Given the description of an element on the screen output the (x, y) to click on. 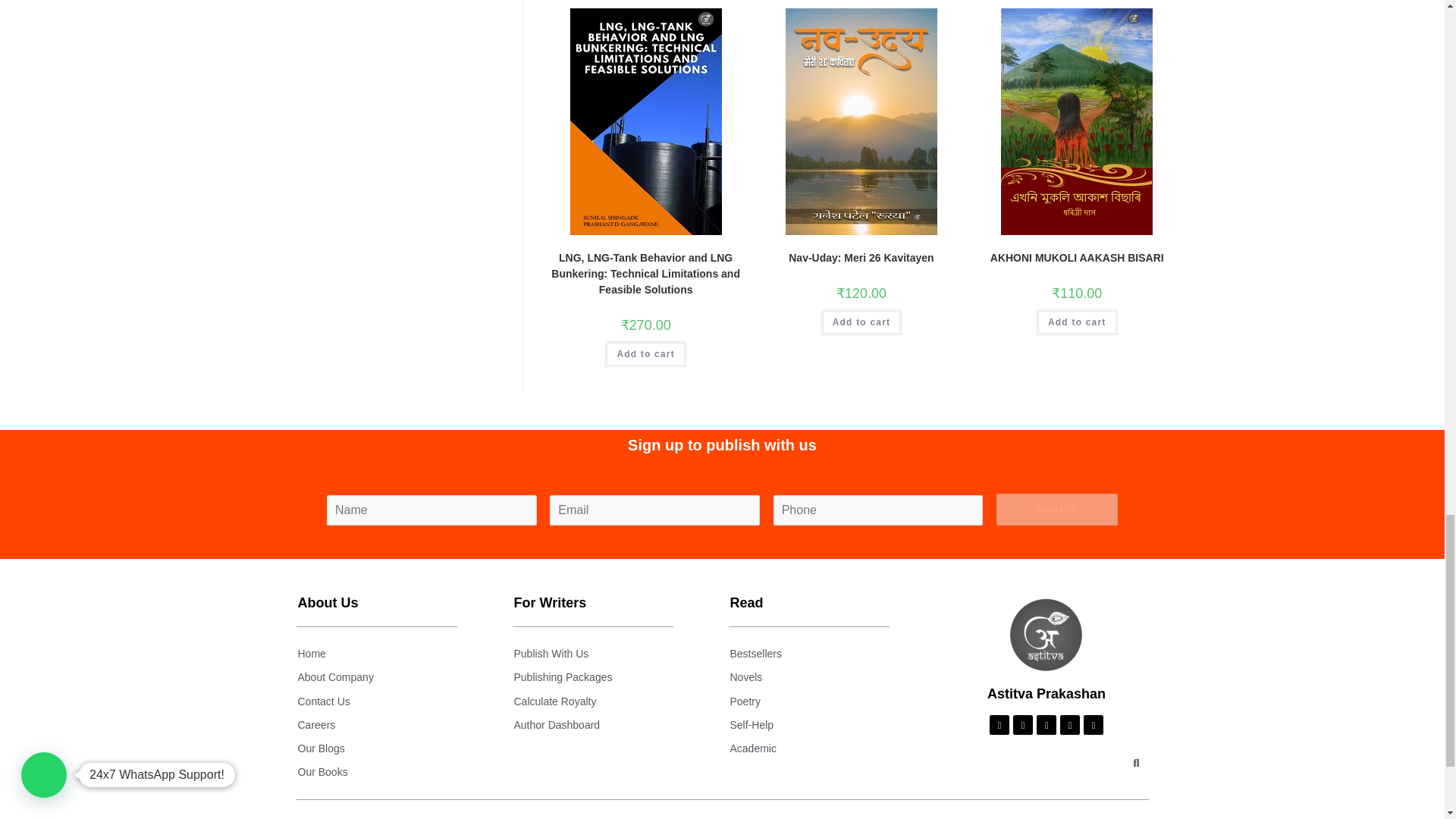
Astitva Prakashan (1046, 634)
Search (1131, 765)
